Given the description of an element on the screen output the (x, y) to click on. 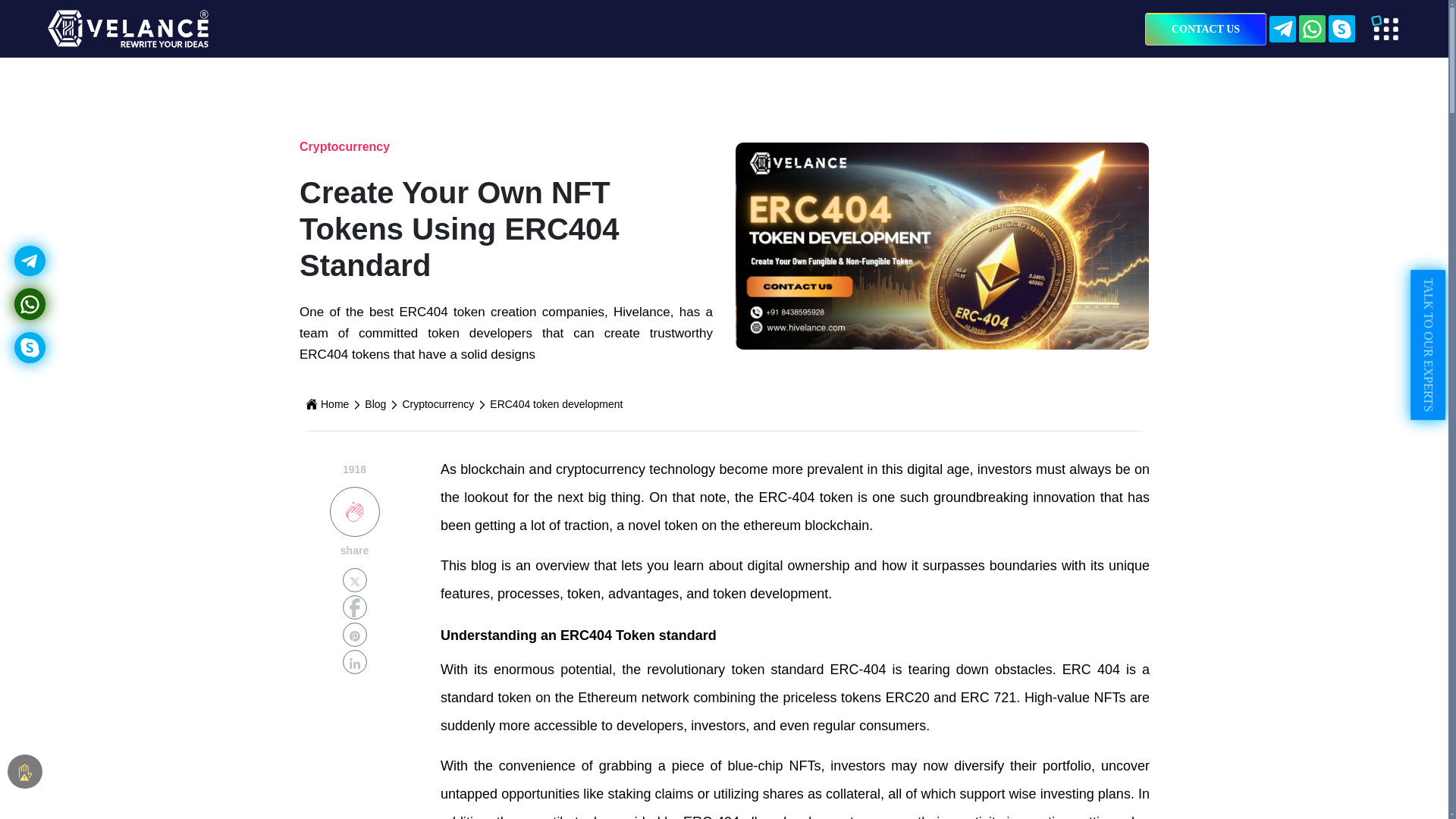
whatsapp (29, 303)
CONTACT US (1205, 28)
logo (128, 28)
menu telegram (1282, 27)
menu skype (1341, 28)
telegram (29, 261)
skype (29, 347)
menu whatsapp (1312, 28)
Disclaimer (25, 772)
Create Your Own NFT Tokens Using ERC404 Standard (941, 245)
